Given the description of an element on the screen output the (x, y) to click on. 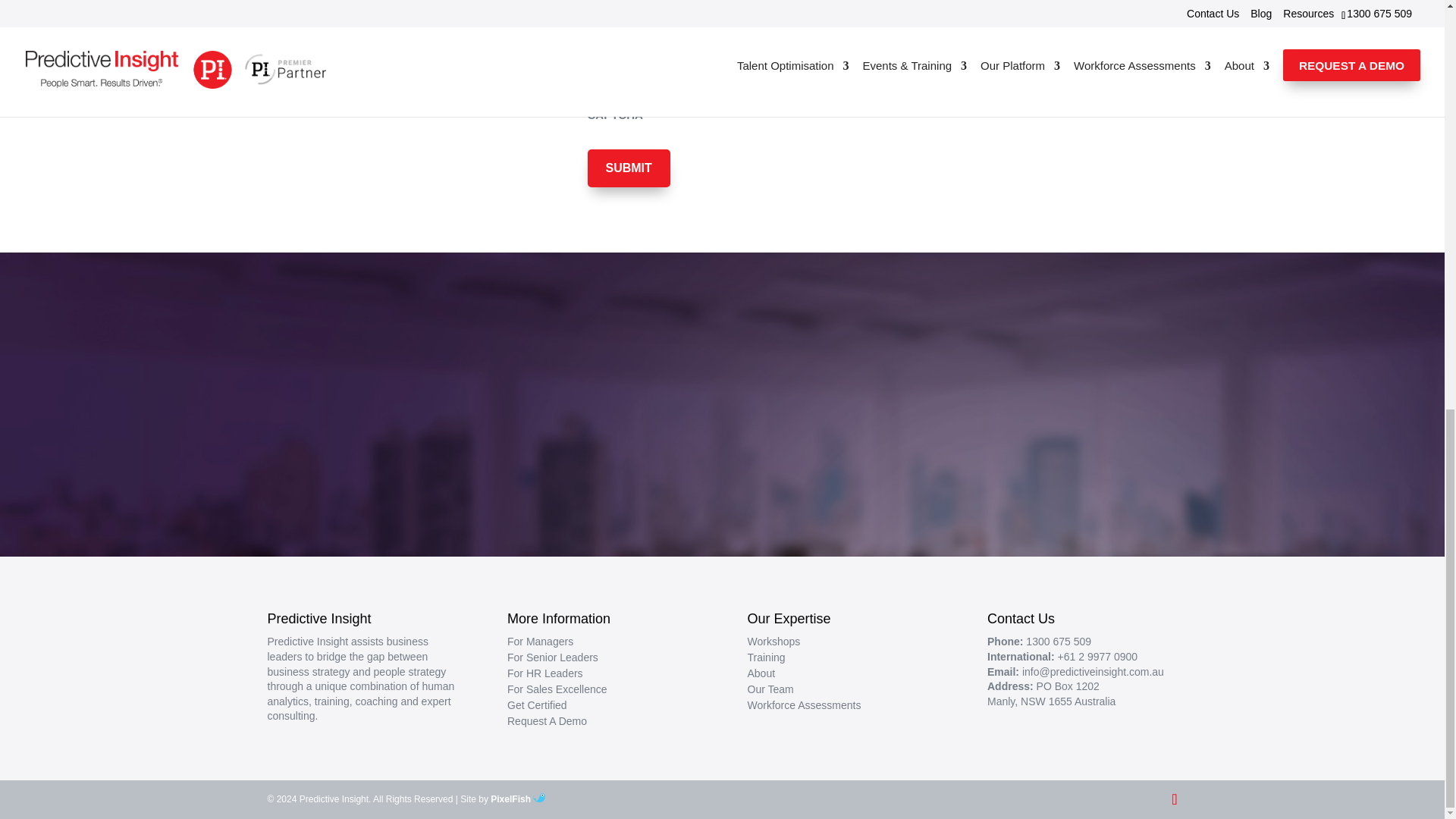
For Managers (539, 641)
Submit (627, 168)
Submit (627, 168)
